Given the description of an element on the screen output the (x, y) to click on. 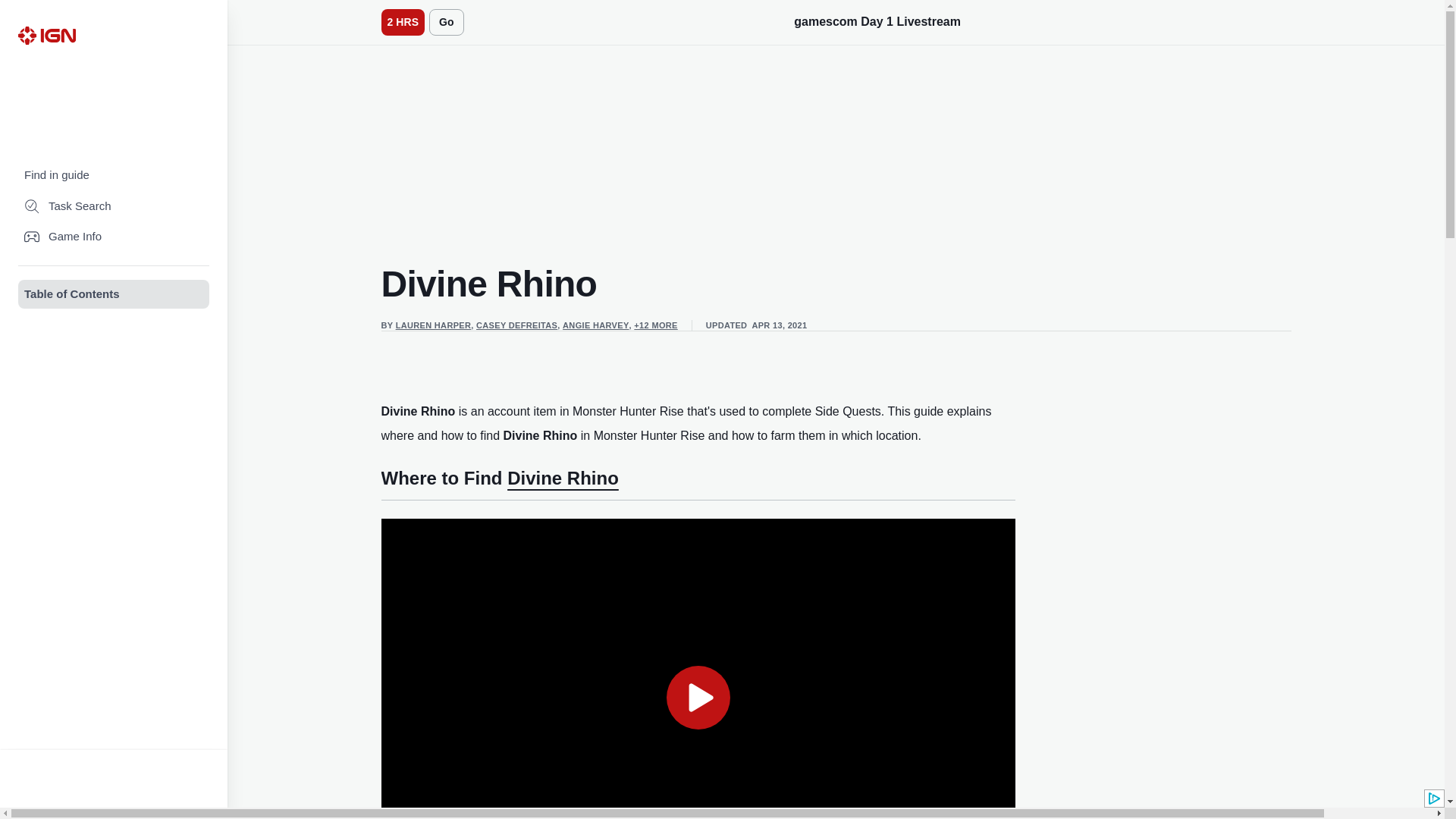
Game Info (113, 236)
Find in guide (113, 175)
IGN (46, 35)
IGN Logo (46, 34)
IGN Logo (46, 35)
Task Search (113, 206)
Find in guide (113, 175)
Table of Contents (113, 294)
Game Info (113, 236)
Task Search (113, 206)
